Given the description of an element on the screen output the (x, y) to click on. 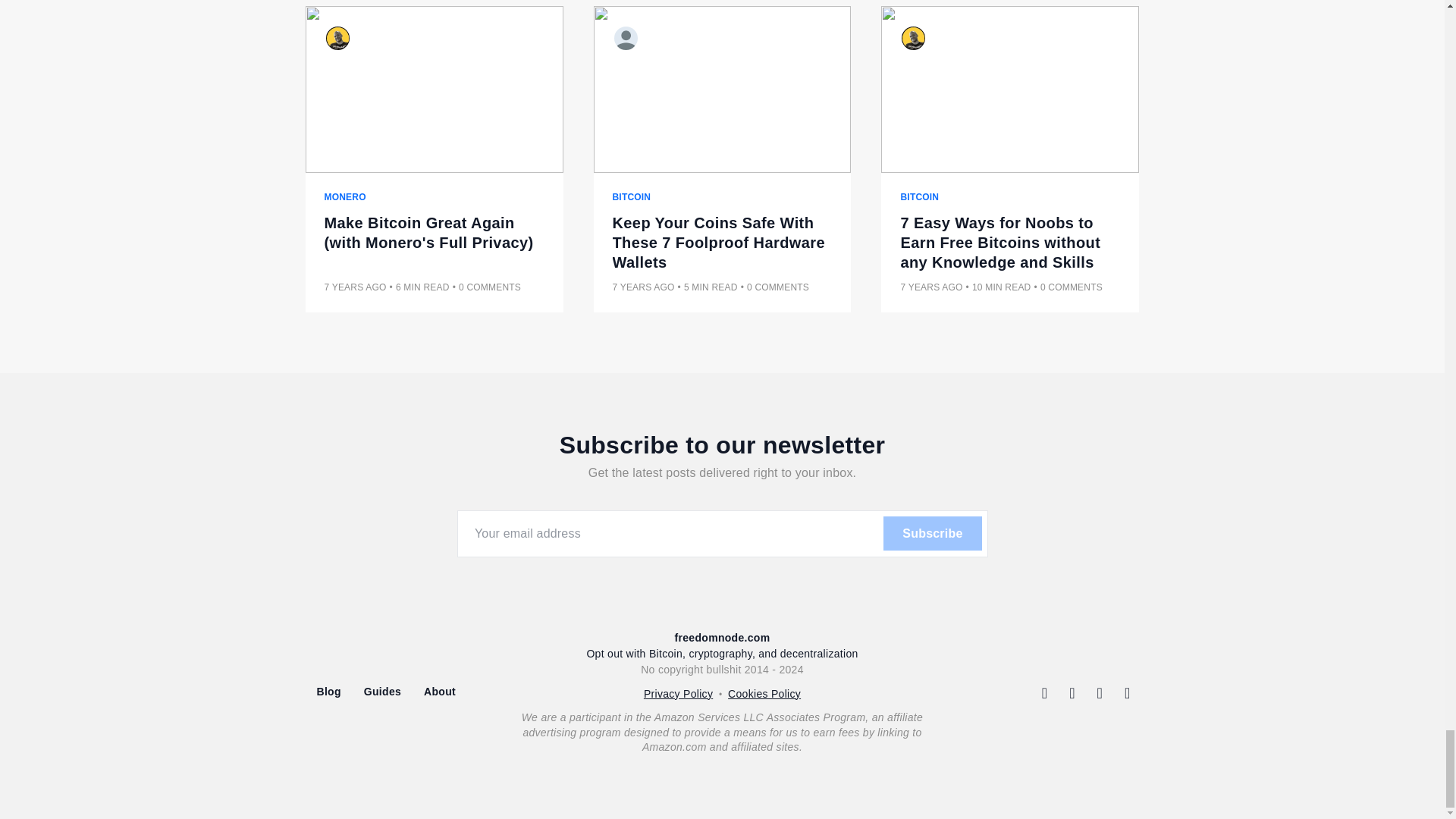
Keep Your Coins Safe With These 7 Foolproof Hardware Wallets (722, 241)
